Given the description of an element on the screen output the (x, y) to click on. 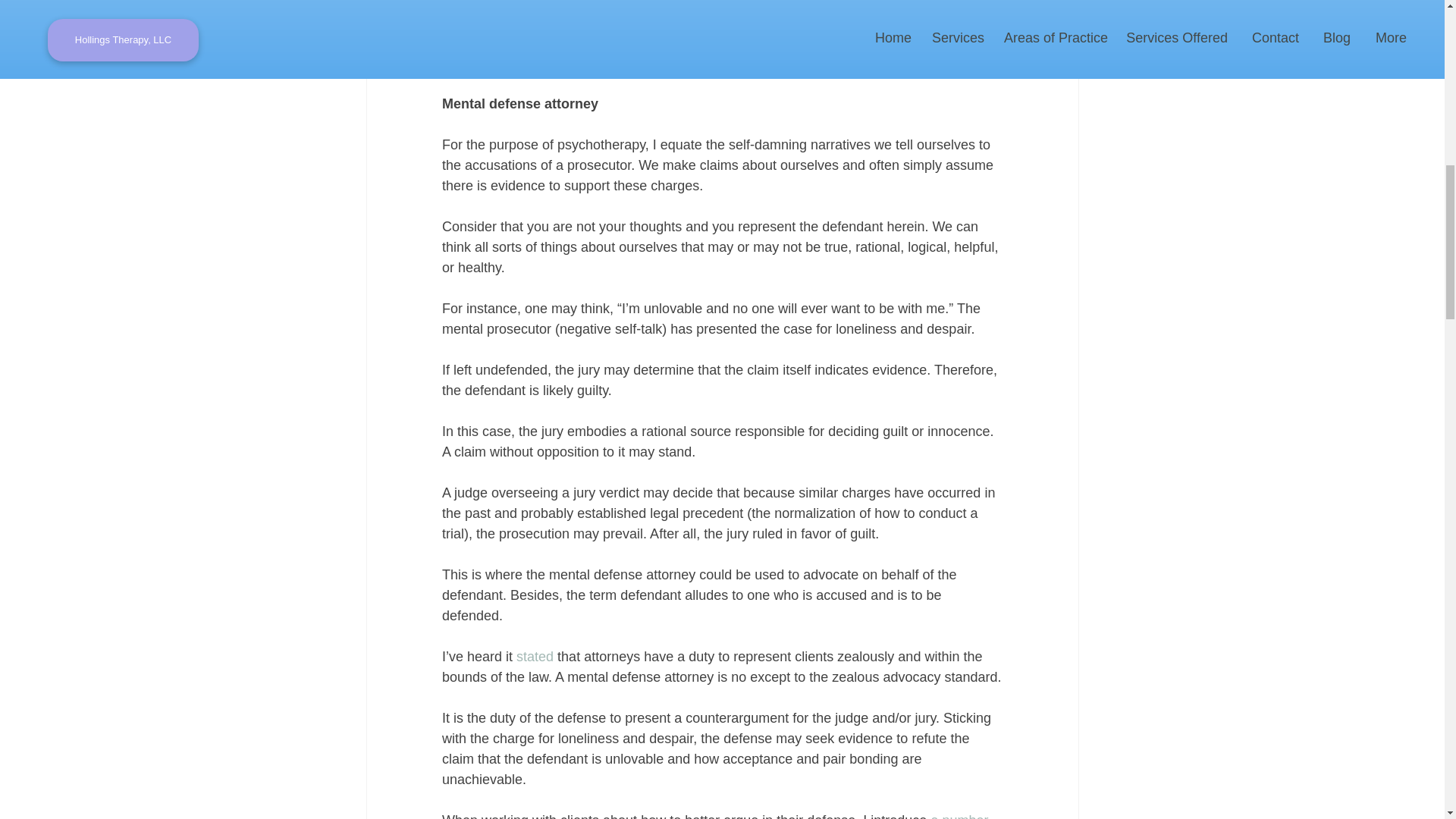
stated (534, 656)
